Given the description of an element on the screen output the (x, y) to click on. 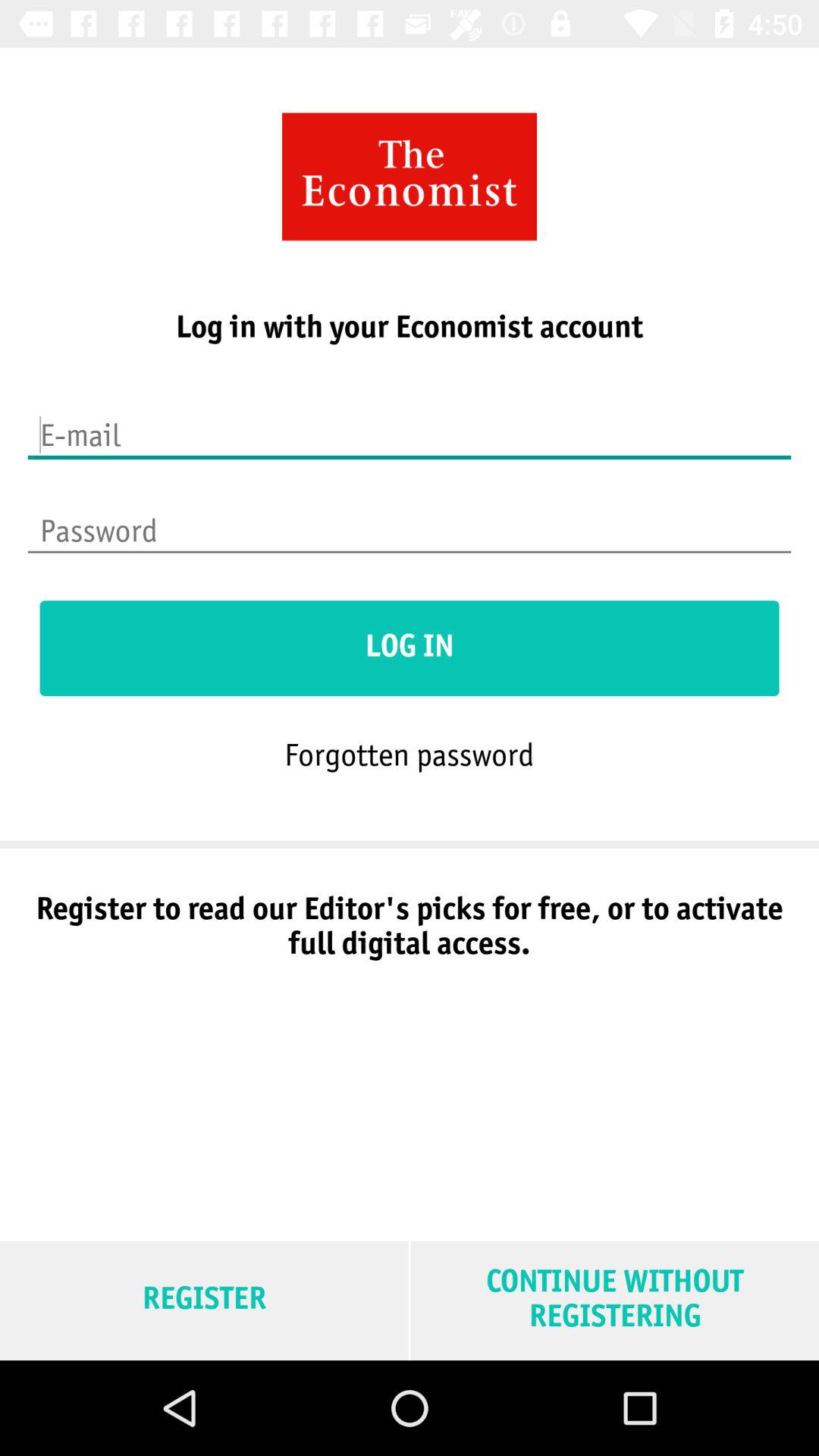
click the forgotten password (409, 753)
